Given the description of an element on the screen output the (x, y) to click on. 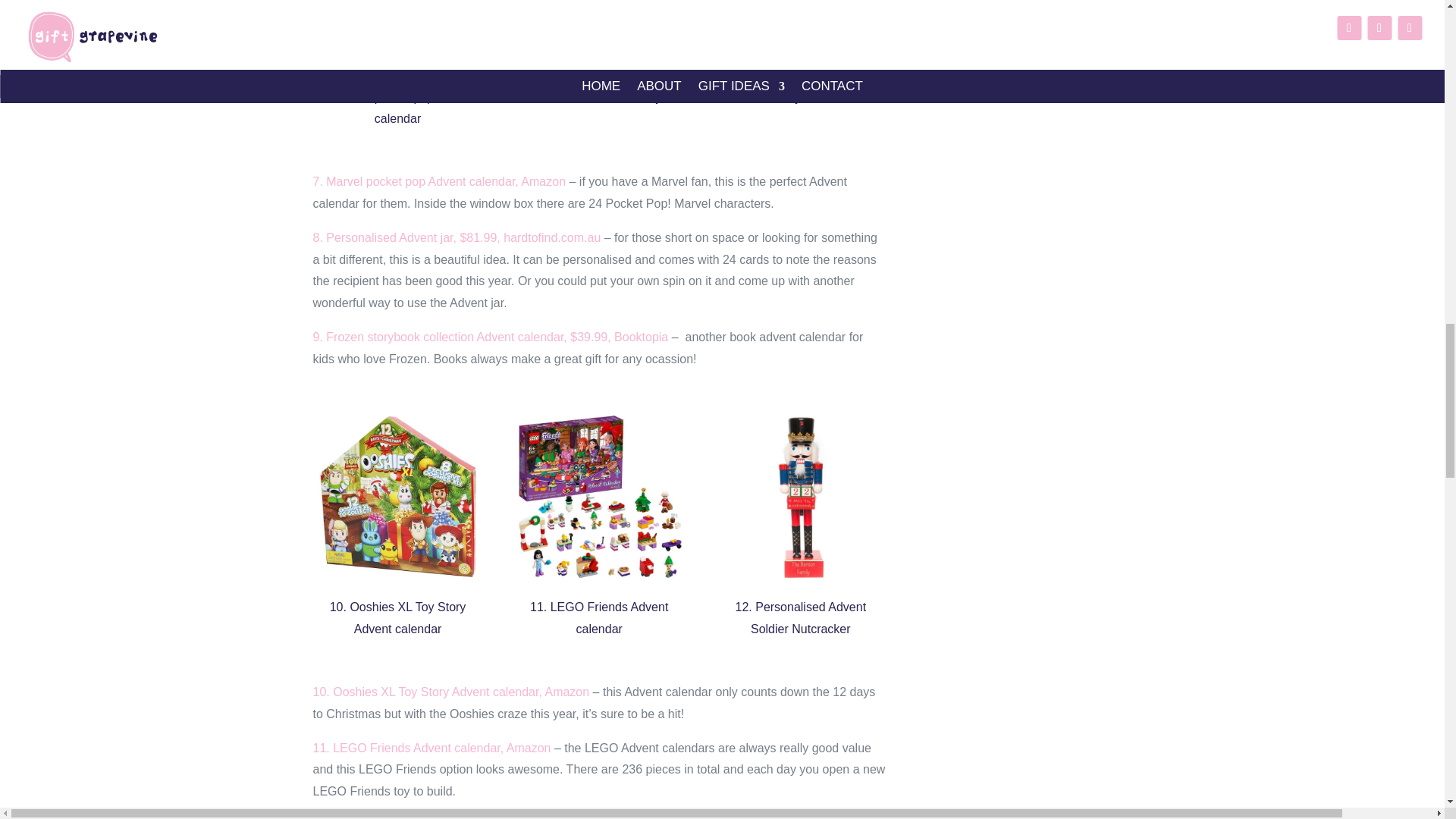
frozen-storybook-collection-advent-calendar (800, 35)
marvel-pocket-pop-advent-calendar (397, 35)
personalised-advent-jar (598, 35)
ooshies-toy-story-advent-calendar (397, 496)
LEGO-friends-advent-calendars-for-kids (598, 496)
personalised-nutcracker-advent-calendar (800, 496)
